Given the description of an element on the screen output the (x, y) to click on. 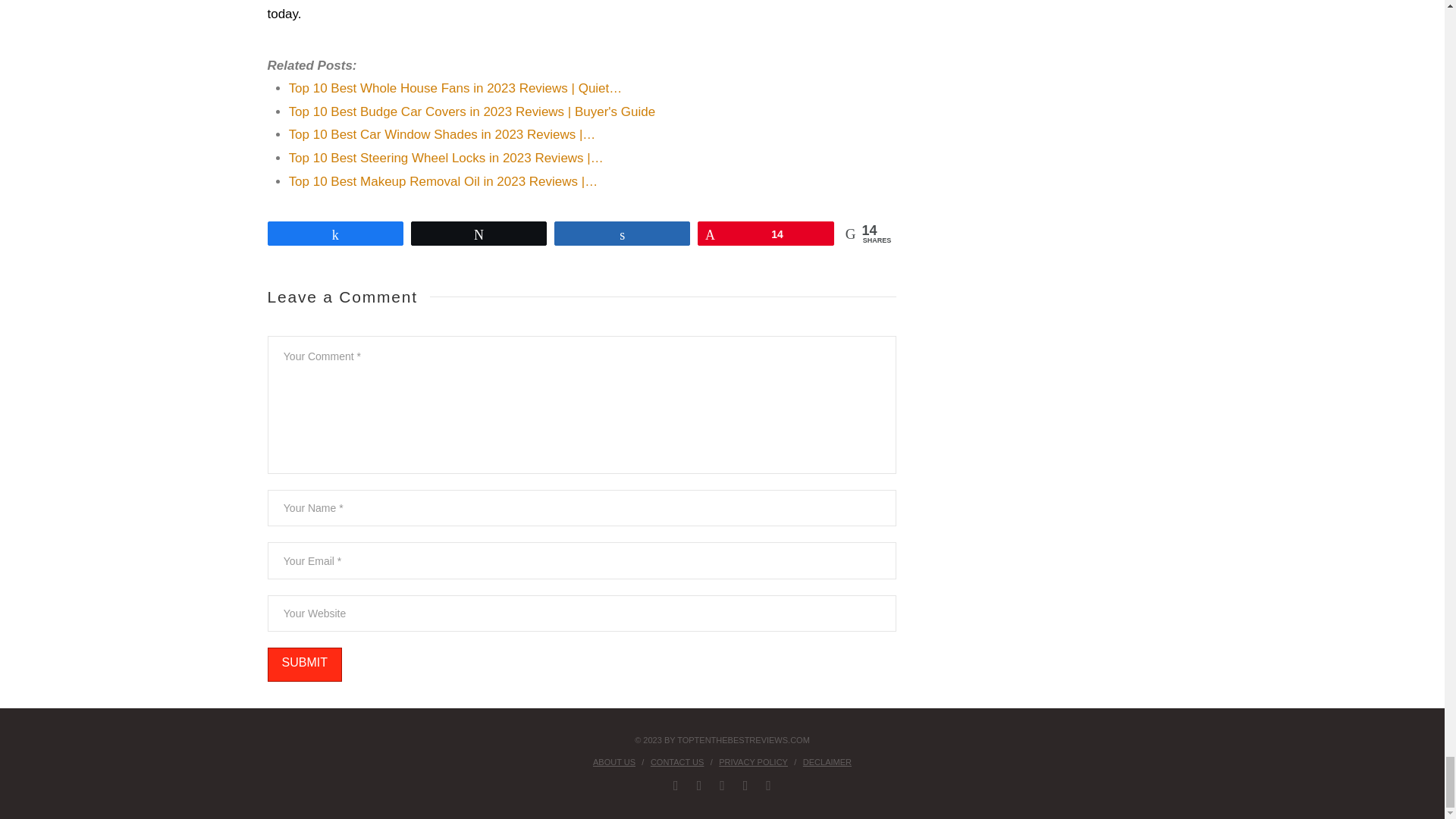
Pinterest (745, 785)
Submit (303, 664)
Tumblr (768, 785)
Facebook (675, 785)
LinkedIn (722, 785)
